Given the description of an element on the screen output the (x, y) to click on. 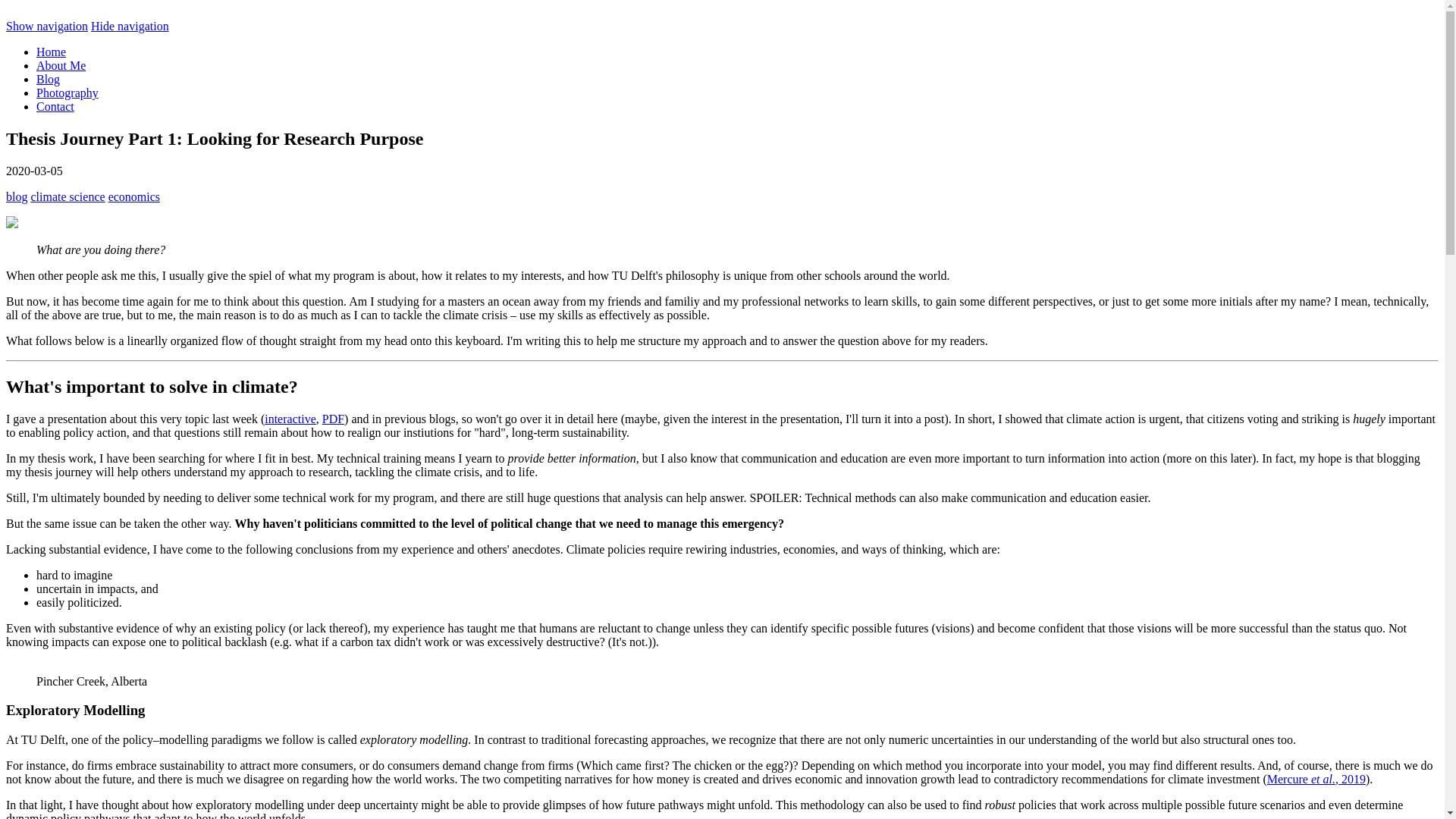
Home (50, 51)
Blog (47, 78)
Hide navigation (129, 25)
Photography (67, 92)
interactive (289, 418)
About Me (60, 65)
Hide navigation (129, 25)
Show navigation (46, 25)
economics (133, 196)
blog (16, 196)
